Given the description of an element on the screen output the (x, y) to click on. 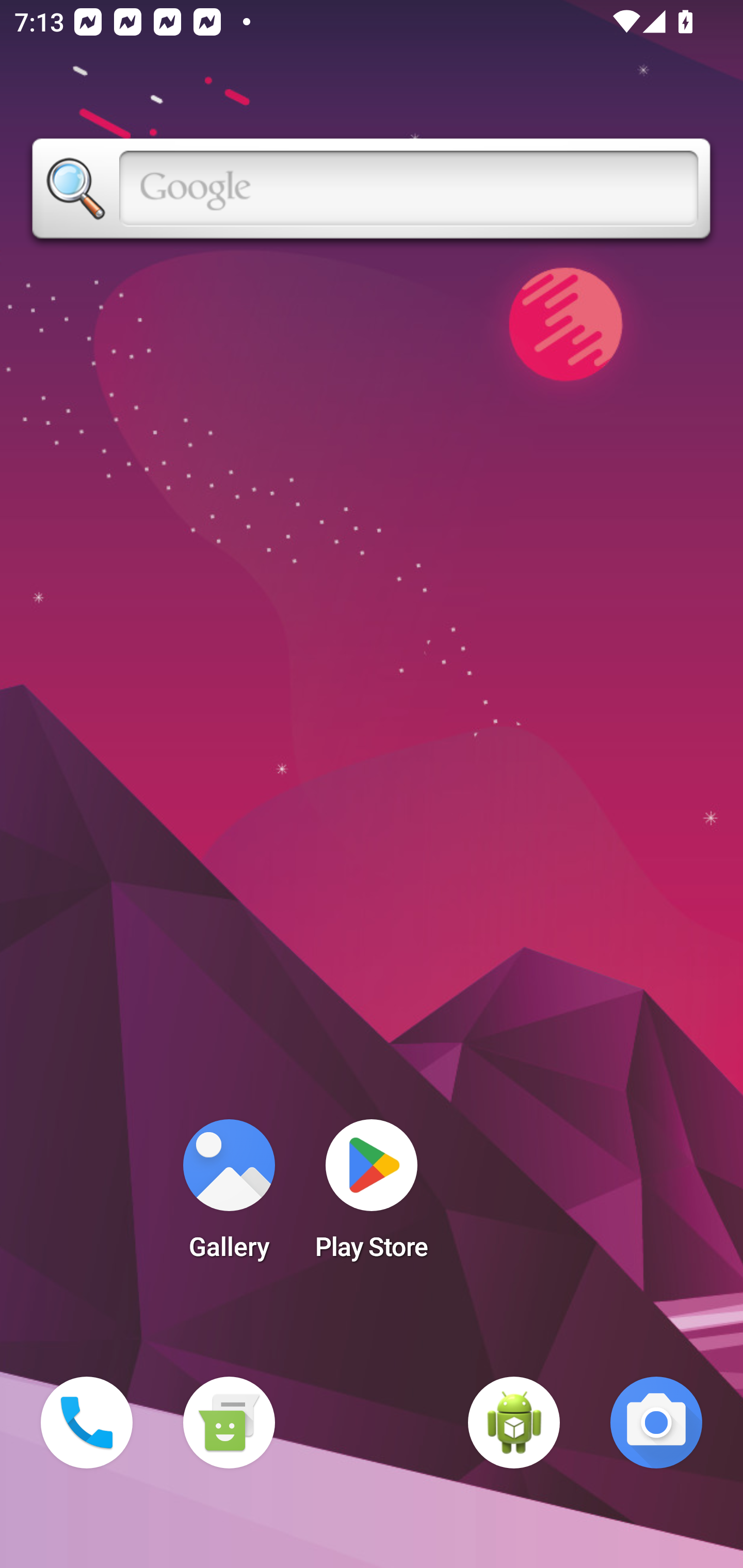
Gallery (228, 1195)
Play Store (371, 1195)
Phone (86, 1422)
Messaging (228, 1422)
WebView Browser Tester (513, 1422)
Camera (656, 1422)
